Given the description of an element on the screen output the (x, y) to click on. 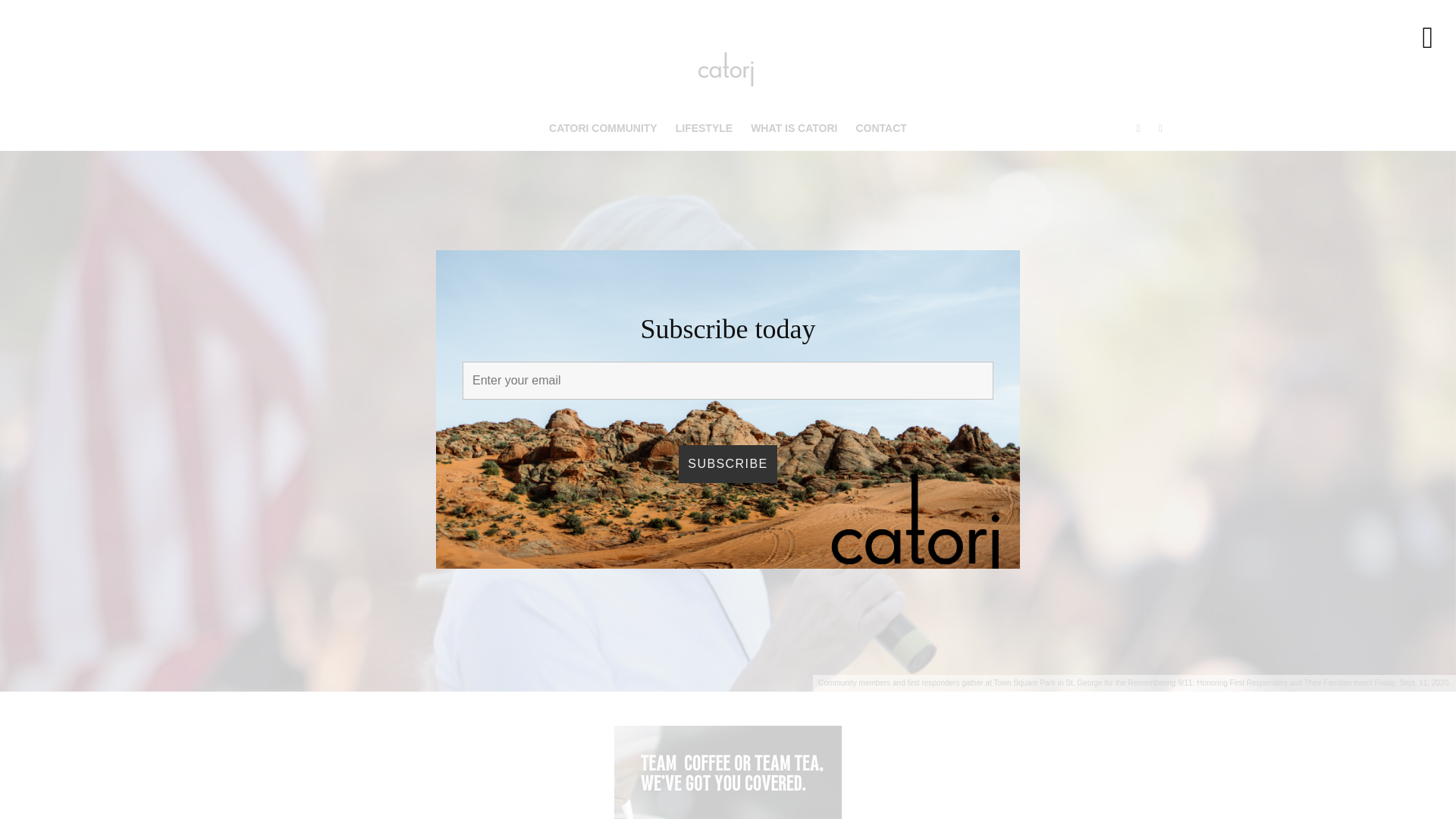
CATORI COMMUNITY (603, 128)
Lifestyle (745, 394)
LIFESTYLE (703, 128)
Catori Community (669, 394)
SUBSCRIBE (727, 464)
CONTACT (880, 128)
WHAT IS CATORI (793, 128)
